Given the description of an element on the screen output the (x, y) to click on. 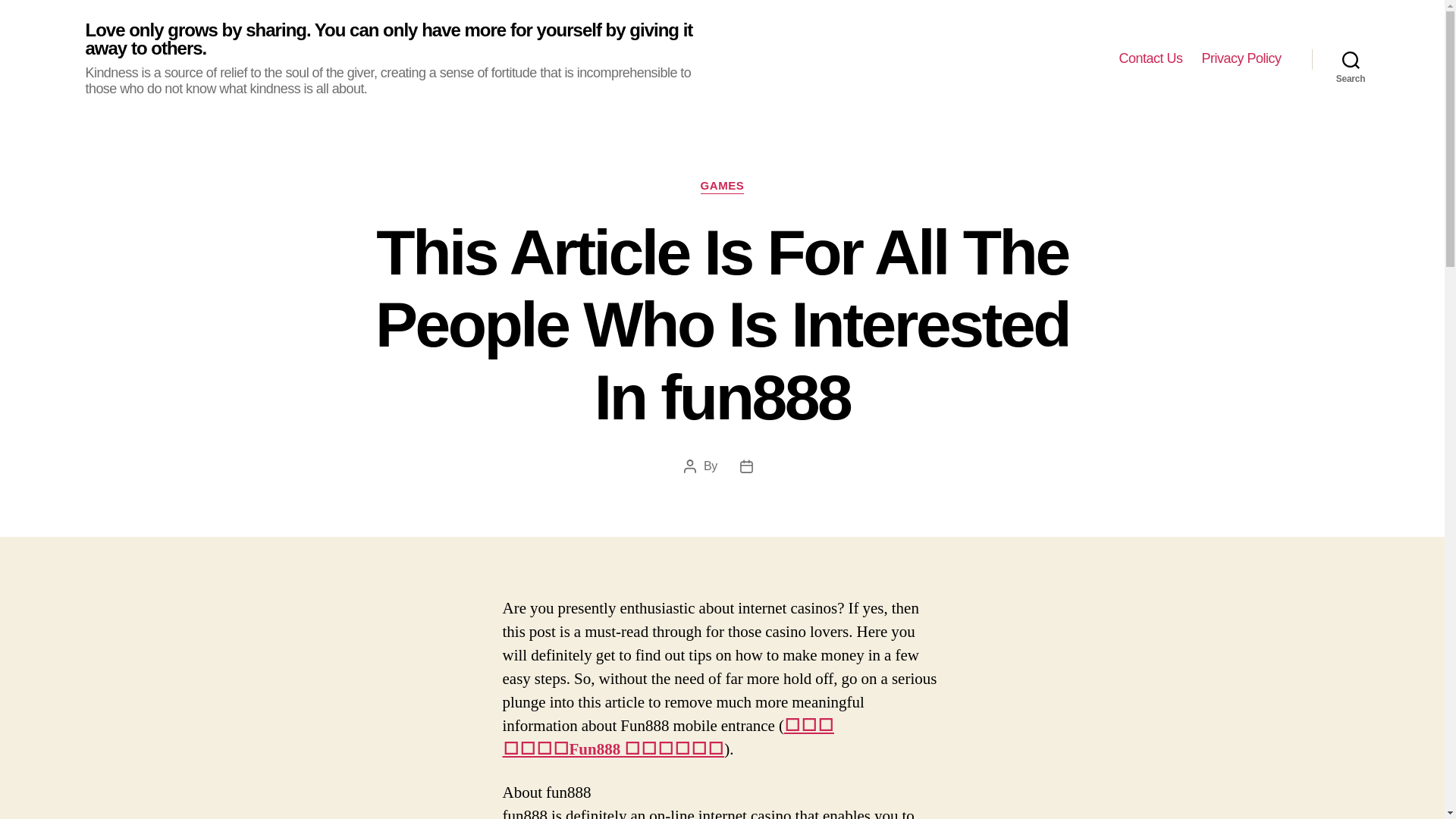
GAMES (722, 186)
Privacy Policy (1241, 58)
Contact Us (1150, 58)
Search (1350, 59)
